Given the description of an element on the screen output the (x, y) to click on. 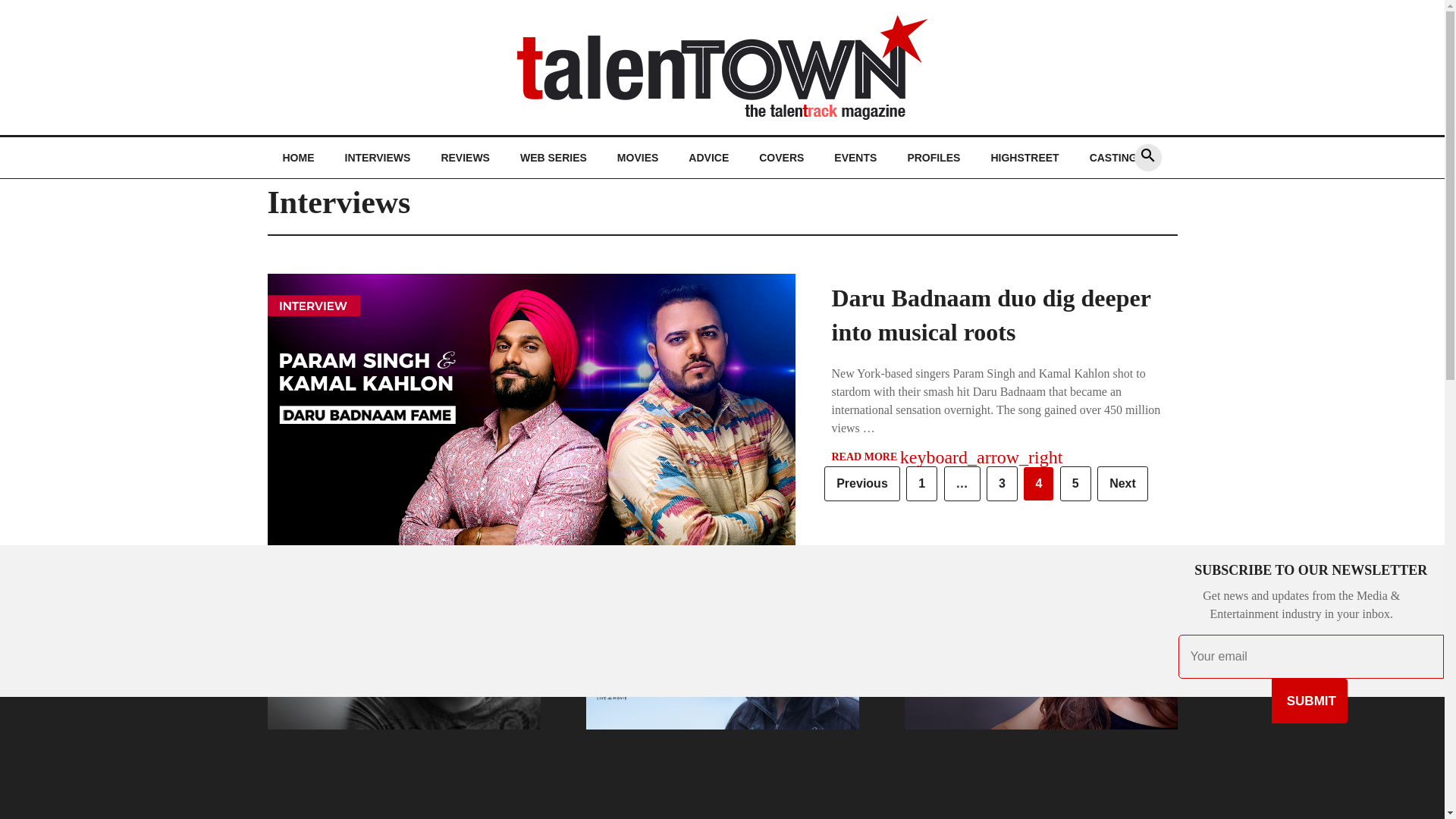
HOME (297, 157)
REVIEWS (465, 157)
Daru Badnaam duo dig deeper into musical roots (990, 314)
EVENTS (854, 157)
PROFILES (933, 157)
WEB SERIES (553, 157)
HIGHSTREET (1024, 157)
COVERS (781, 157)
CASTING (1113, 157)
Search (914, 408)
MOVIES (637, 157)
ADVICE (708, 157)
INTERVIEWS (377, 157)
